Given the description of an element on the screen output the (x, y) to click on. 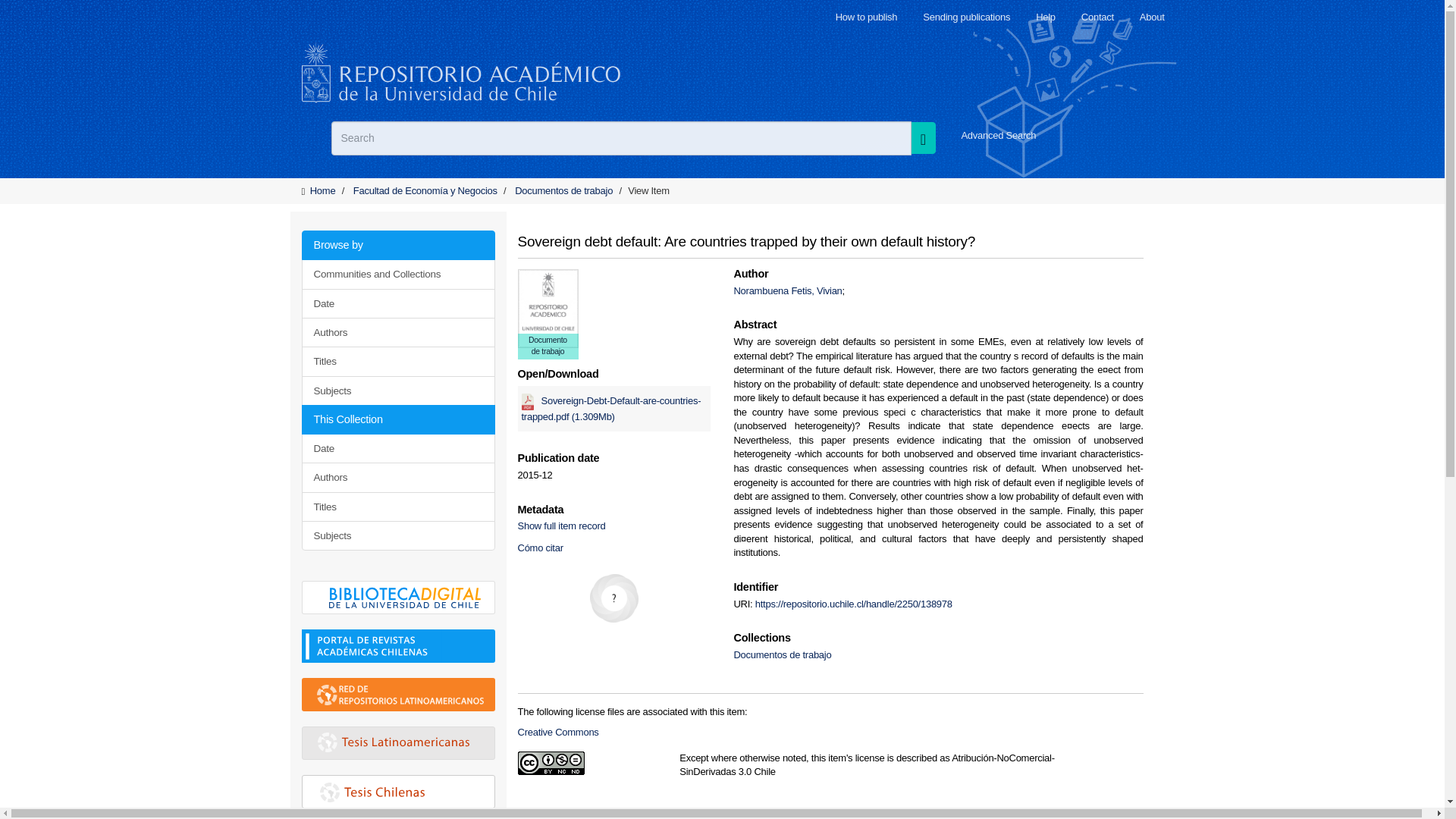
Revistas Chilenas (384, 645)
Home (323, 190)
About (1152, 16)
Subjects (398, 390)
Authors (398, 477)
Subjects (398, 535)
Repositorios Latinoamericanos (400, 701)
Citar esta tesis (539, 547)
Date (398, 303)
Sending publications (966, 16)
Biblioteca Digital - Universidad de Chile (404, 603)
Authors (398, 332)
Titles (398, 506)
Help (1045, 16)
Date (398, 448)
